Given the description of an element on the screen output the (x, y) to click on. 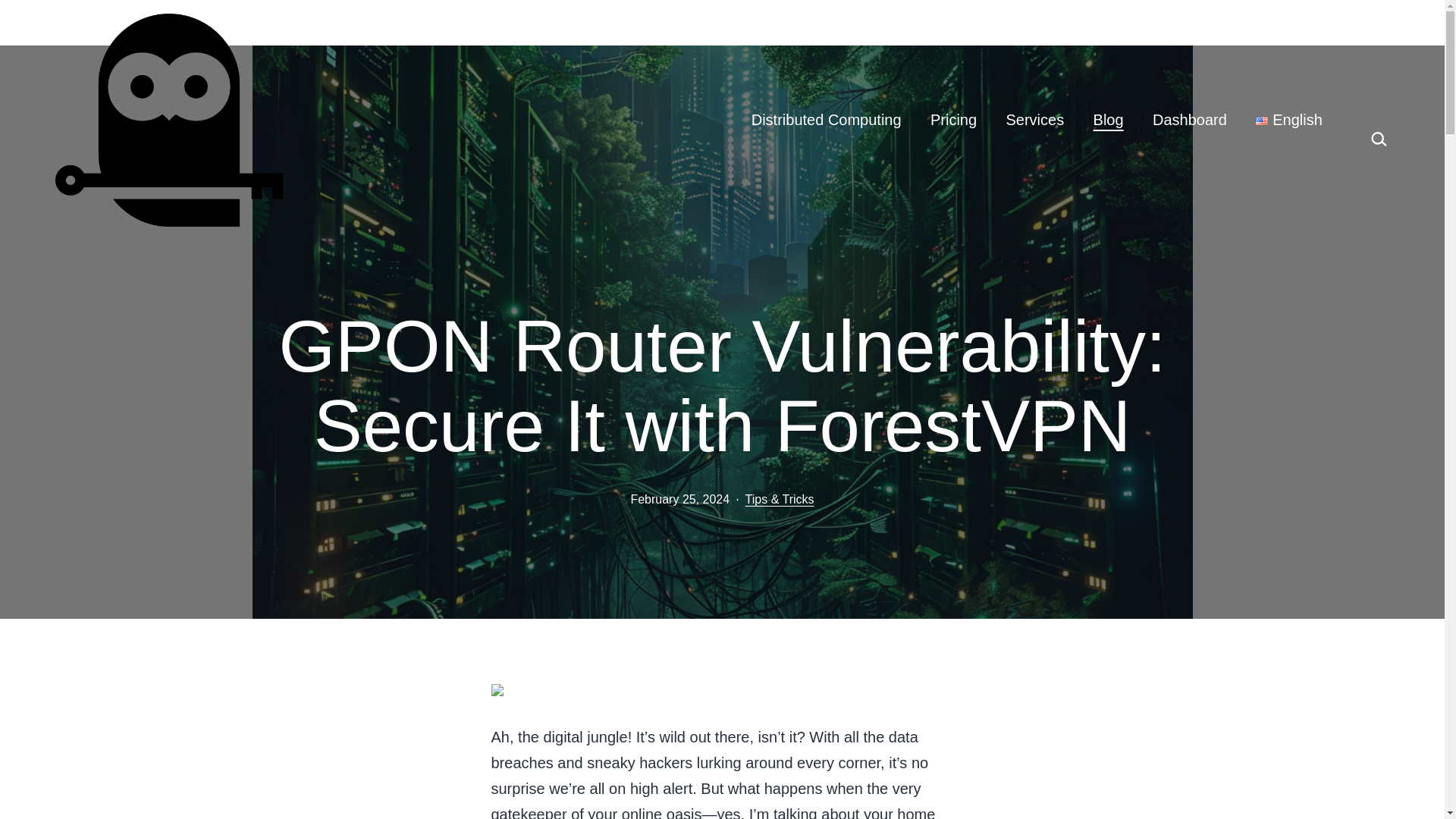
English (1289, 119)
Dashboard (1189, 119)
Services (1034, 119)
Blog (1107, 119)
Distributed Computing (826, 119)
Pricing (953, 119)
